Given the description of an element on the screen output the (x, y) to click on. 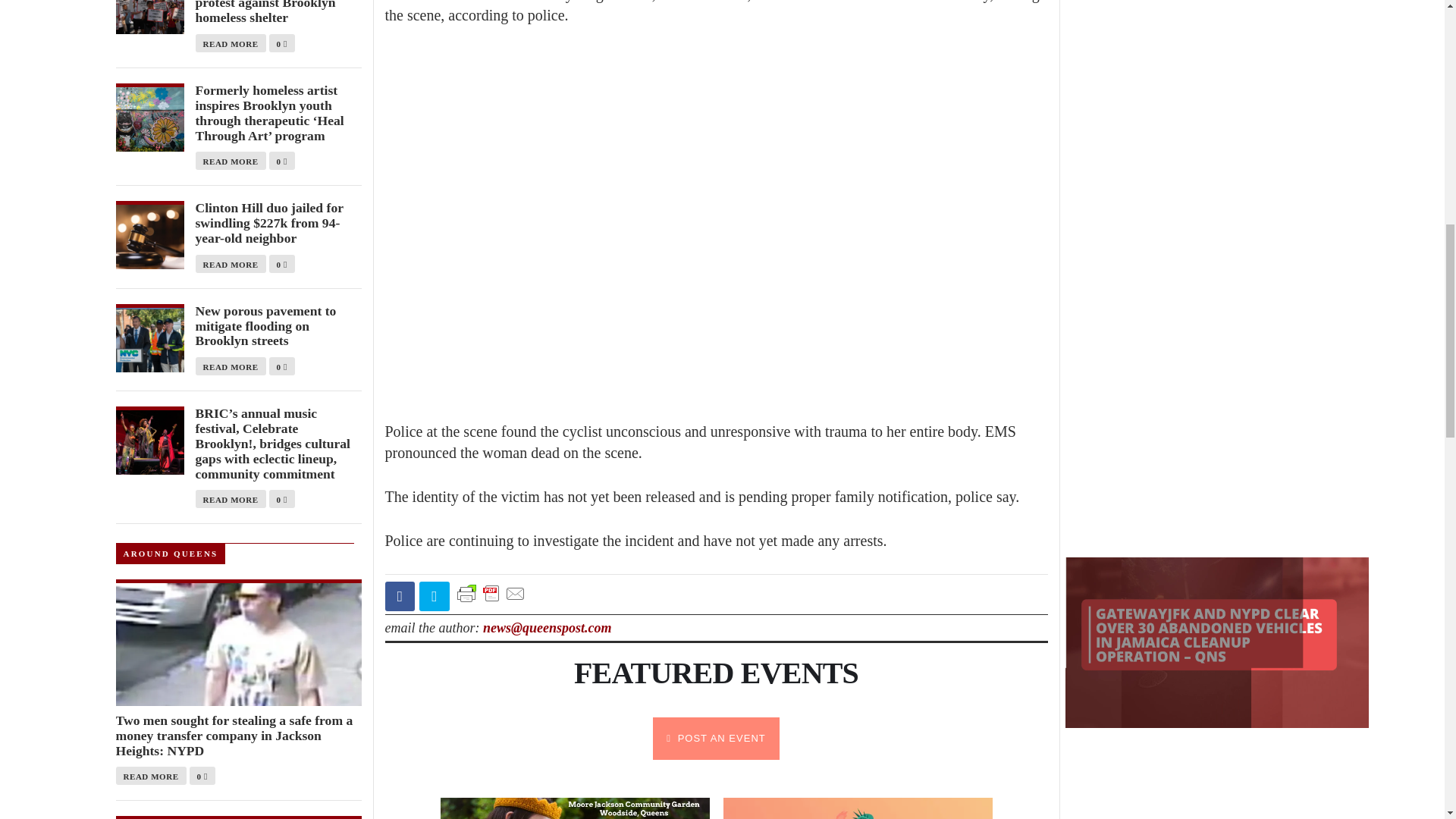
FEATURED EVENTS (716, 673)
POST AN EVENT (715, 738)
